Given the description of an element on the screen output the (x, y) to click on. 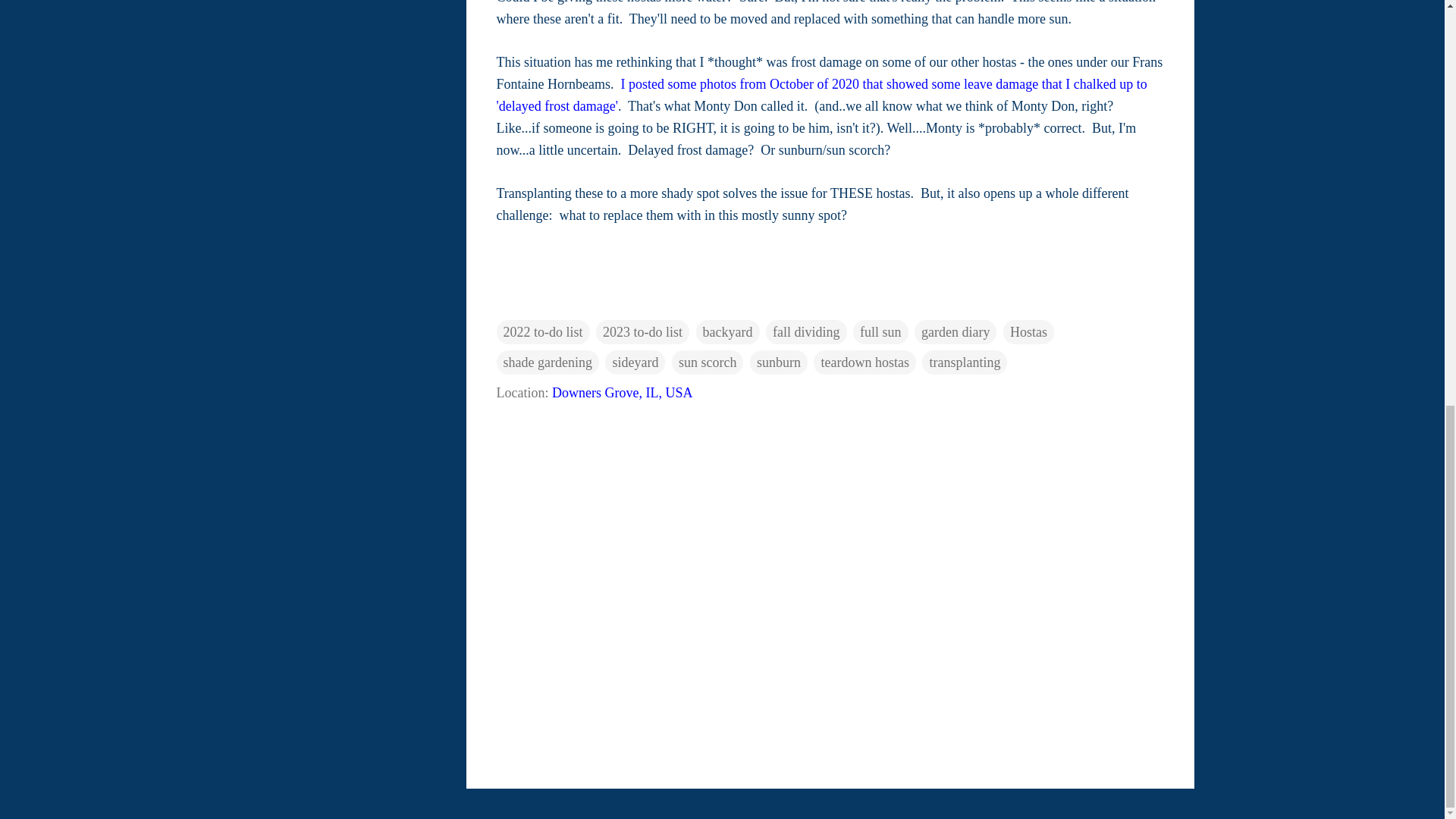
sunburn (778, 362)
sideyard (635, 362)
sun scorch (706, 362)
garden diary (954, 331)
transplanting (964, 362)
shade gardening (547, 362)
Downers Grove, IL, USA (622, 392)
teardown hostas (864, 362)
fall dividing (806, 331)
